Given the description of an element on the screen output the (x, y) to click on. 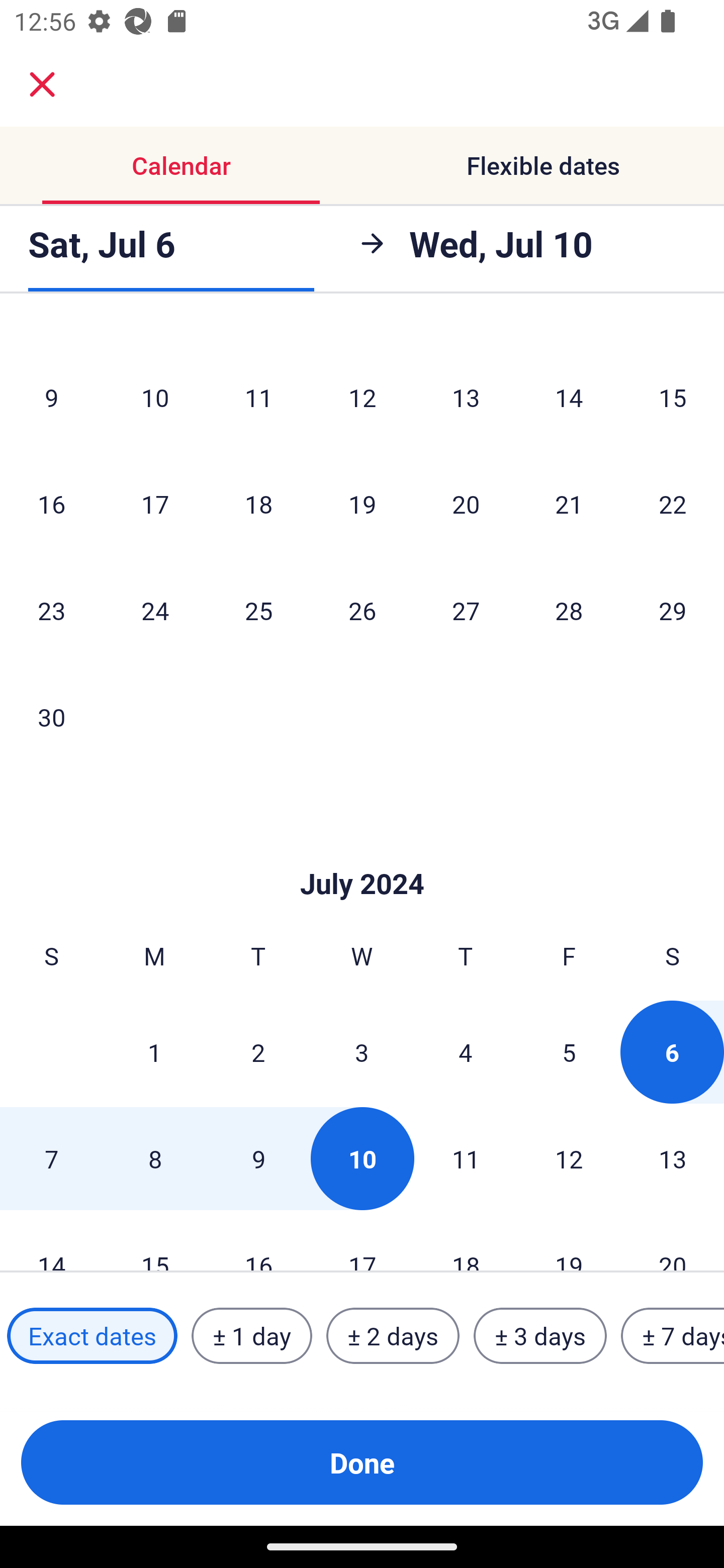
close. (42, 84)
Flexible dates (542, 164)
9 Sunday, June 9, 2024 (51, 397)
10 Monday, June 10, 2024 (155, 397)
11 Tuesday, June 11, 2024 (258, 397)
12 Wednesday, June 12, 2024 (362, 397)
13 Thursday, June 13, 2024 (465, 397)
14 Friday, June 14, 2024 (569, 397)
15 Saturday, June 15, 2024 (672, 397)
16 Sunday, June 16, 2024 (51, 503)
17 Monday, June 17, 2024 (155, 503)
18 Tuesday, June 18, 2024 (258, 503)
19 Wednesday, June 19, 2024 (362, 503)
20 Thursday, June 20, 2024 (465, 503)
21 Friday, June 21, 2024 (569, 503)
22 Saturday, June 22, 2024 (672, 503)
23 Sunday, June 23, 2024 (51, 609)
24 Monday, June 24, 2024 (155, 609)
25 Tuesday, June 25, 2024 (258, 609)
26 Wednesday, June 26, 2024 (362, 609)
27 Thursday, June 27, 2024 (465, 609)
28 Friday, June 28, 2024 (569, 609)
29 Saturday, June 29, 2024 (672, 609)
30 Sunday, June 30, 2024 (51, 716)
Skip to Done (362, 853)
1 Monday, July 1, 2024 (154, 1051)
14 Sunday, July 14, 2024 (51, 1241)
15 Monday, July 15, 2024 (155, 1241)
16 Tuesday, July 16, 2024 (258, 1241)
17 Wednesday, July 17, 2024 (362, 1241)
18 Thursday, July 18, 2024 (465, 1241)
19 Friday, July 19, 2024 (569, 1241)
20 Saturday, July 20, 2024 (672, 1241)
Exact dates (92, 1335)
± 1 day (251, 1335)
± 2 days (392, 1335)
± 3 days (539, 1335)
± 7 days (672, 1335)
Done (361, 1462)
